Given the description of an element on the screen output the (x, y) to click on. 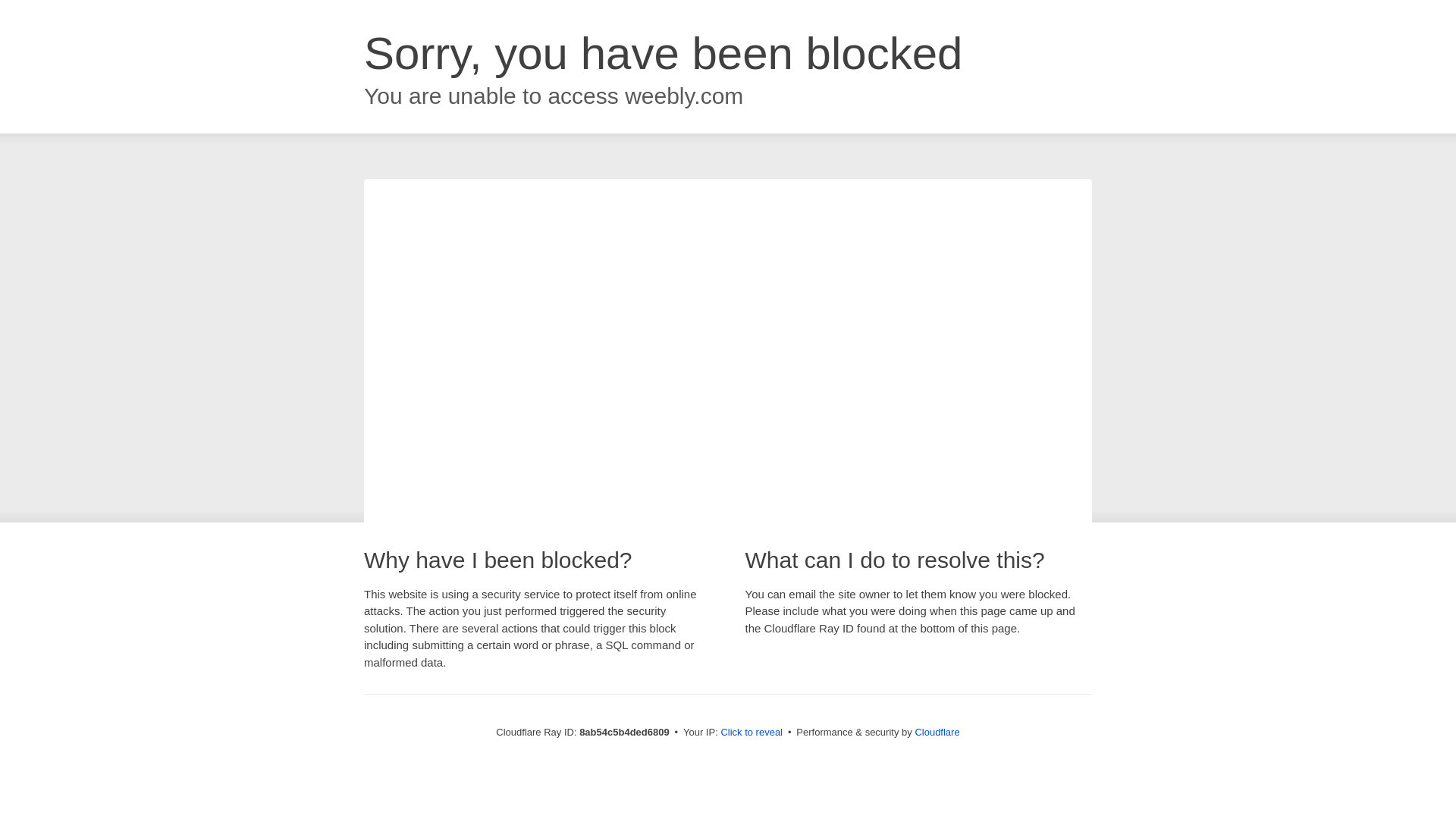
Click to reveal (751, 732)
Cloudflare (936, 731)
